Given the description of an element on the screen output the (x, y) to click on. 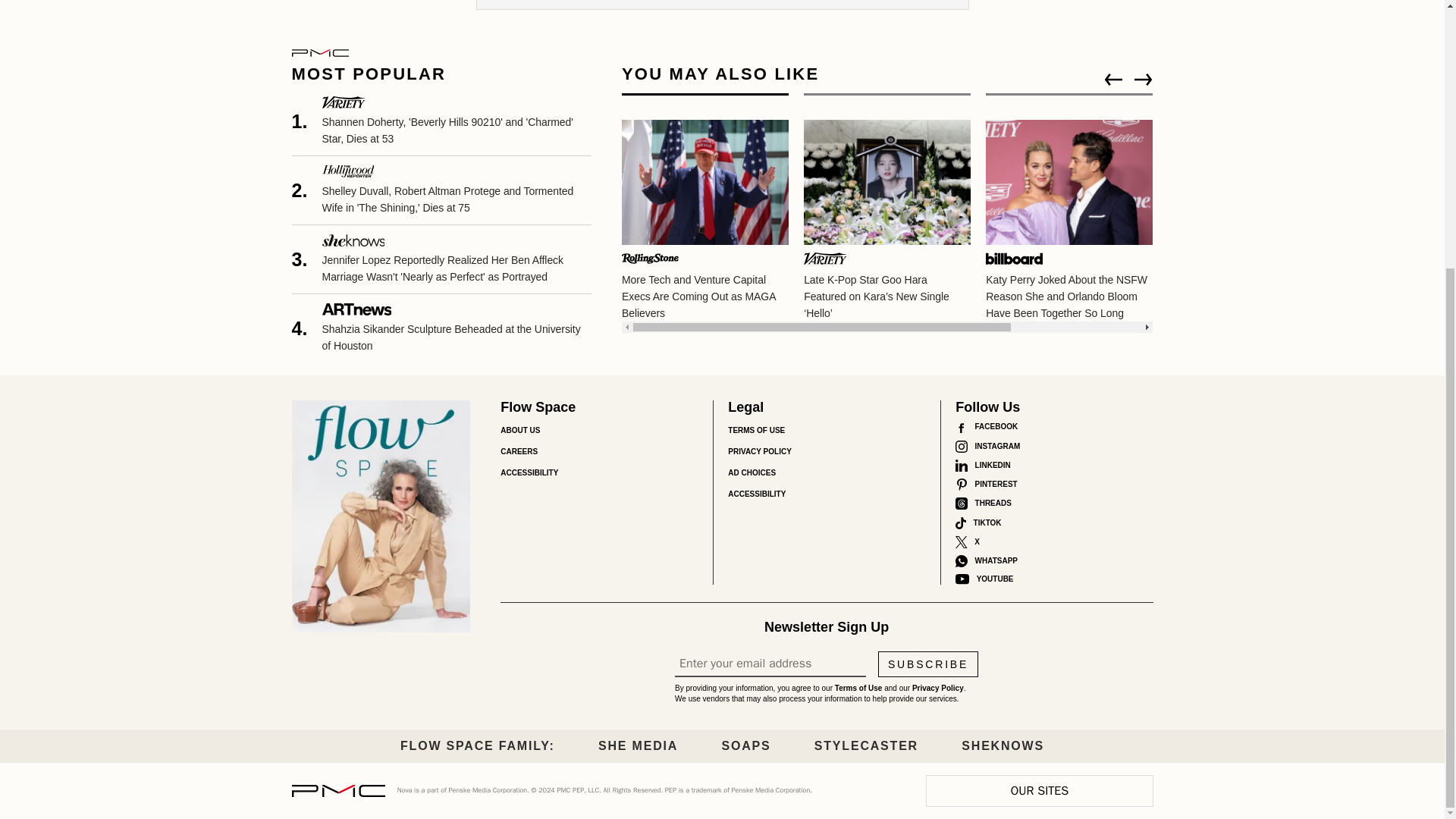
Submit (494, 4)
